Given the description of an element on the screen output the (x, y) to click on. 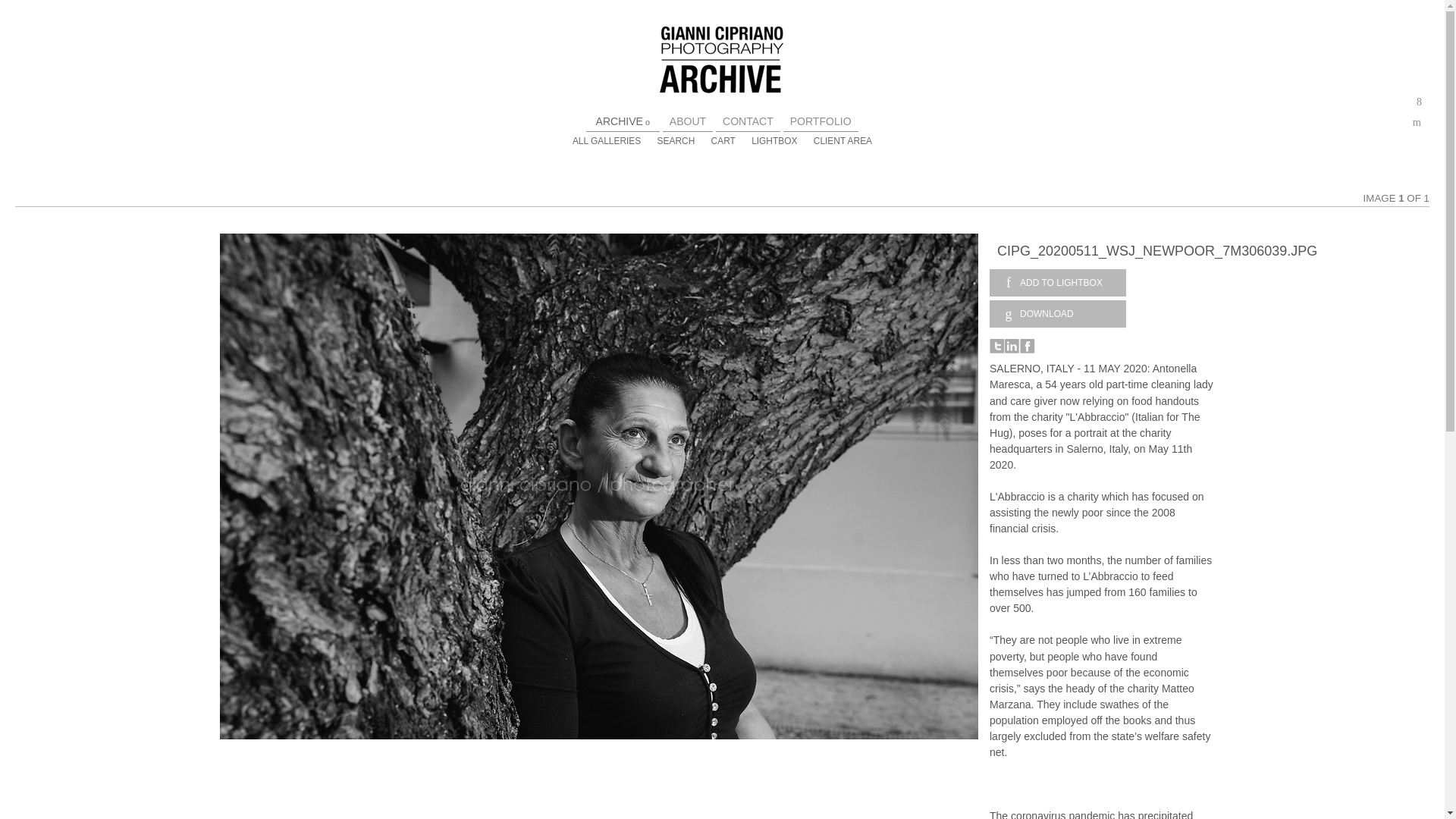
CONTACT (747, 121)
SEARCH (676, 140)
x (1419, 101)
LIGHTBOX (773, 140)
PORTFOLIO (820, 121)
ADD TO LIGHTBOX (1057, 282)
CART (723, 140)
CLIENT AREA (842, 140)
Share This (1419, 101)
DOWNLOAD (1057, 313)
ABOUT (687, 121)
ALL GALLERIES (606, 140)
